Given the description of an element on the screen output the (x, y) to click on. 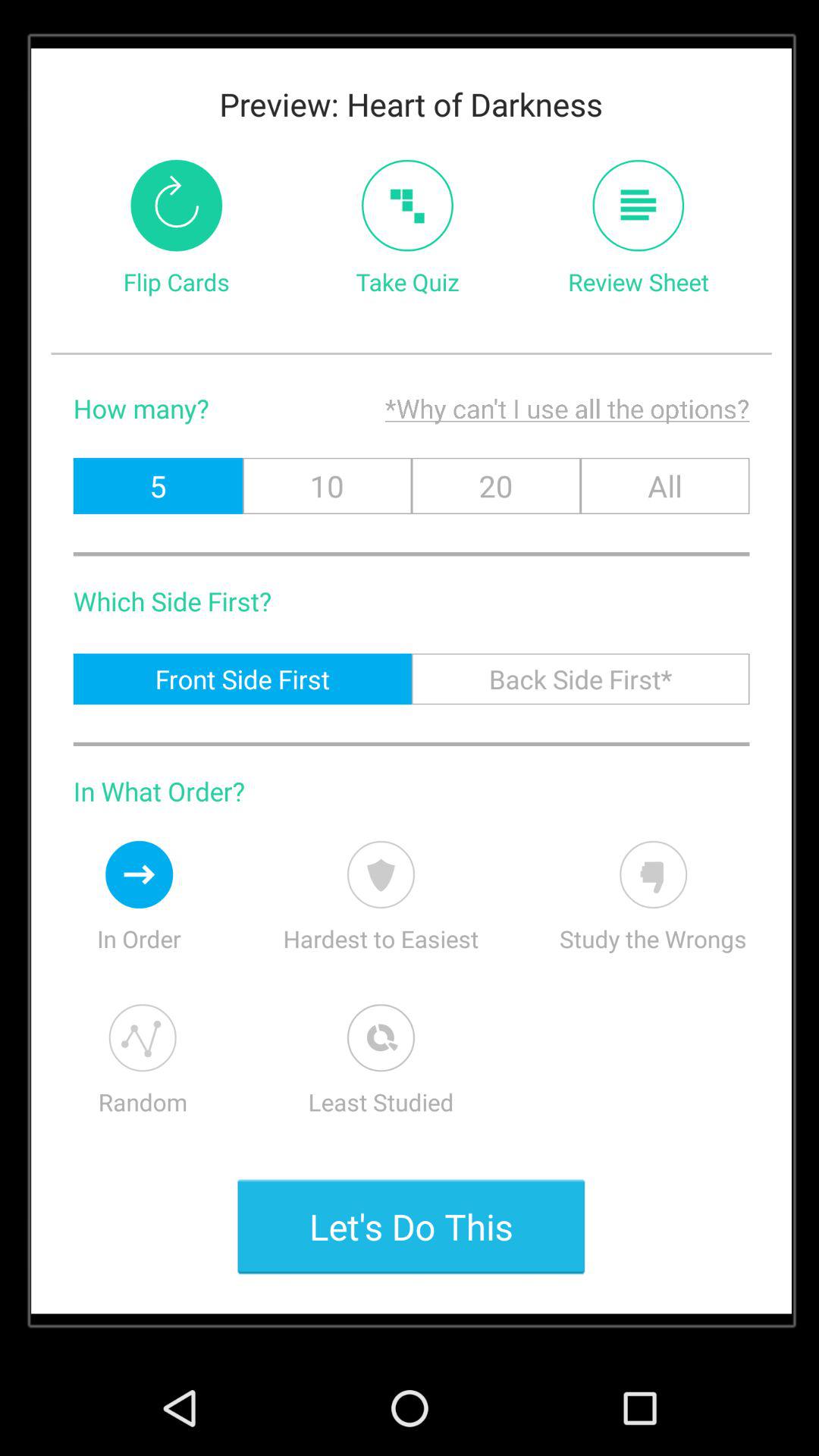
launch the icon next to 10 (157, 485)
